Given the description of an element on the screen output the (x, y) to click on. 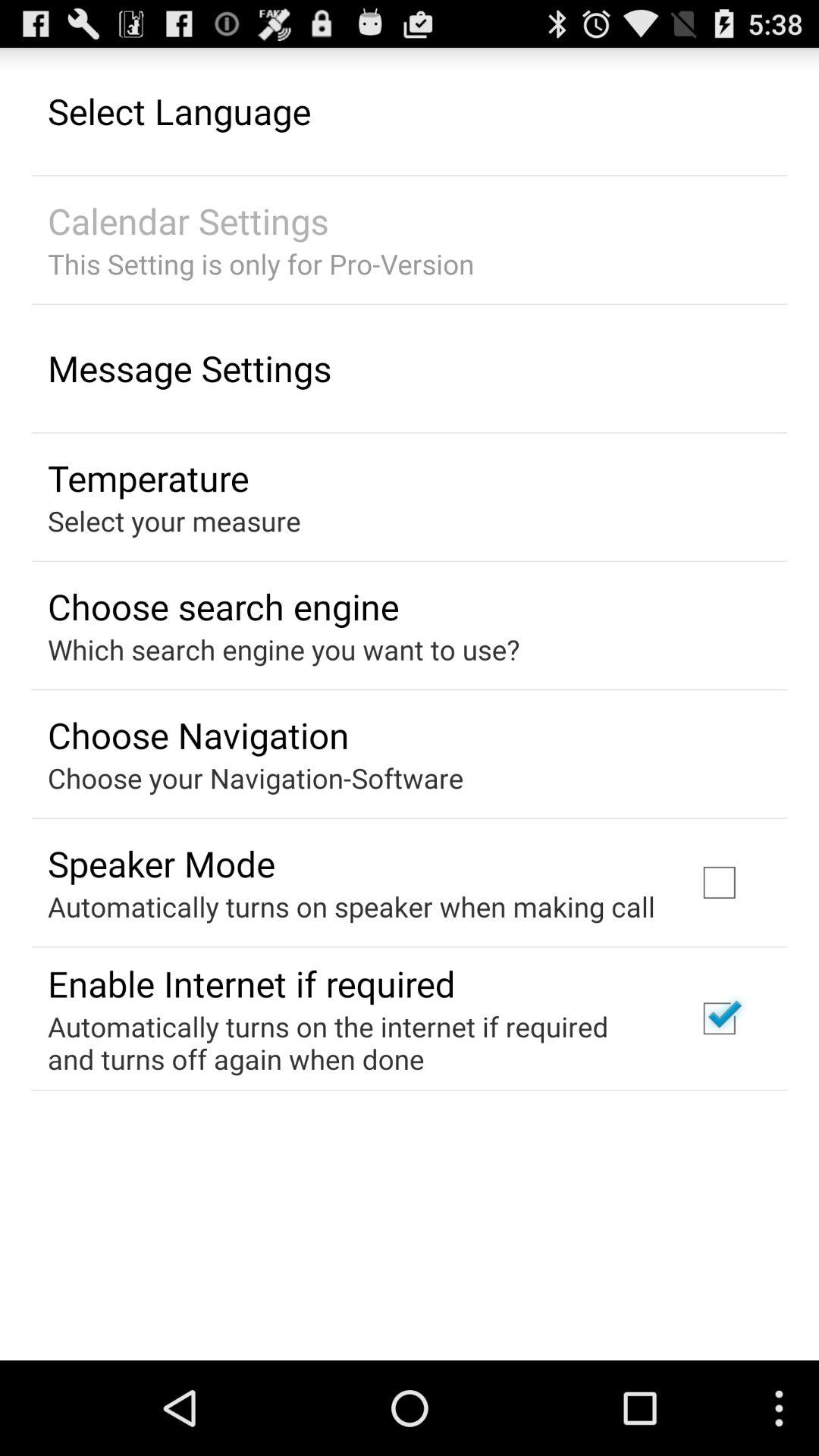
launch the item above the choose search engine item (173, 520)
